Given the description of an element on the screen output the (x, y) to click on. 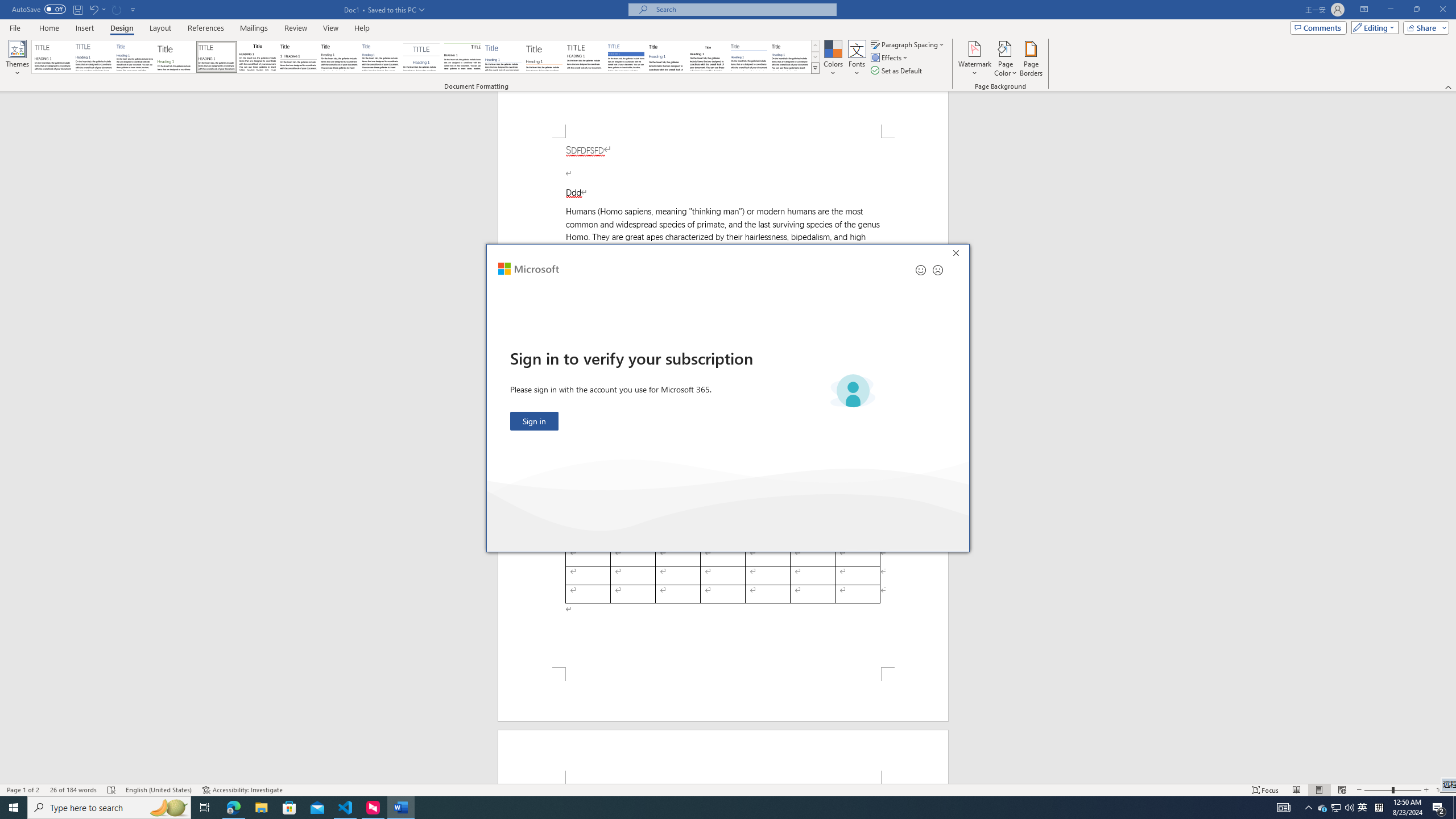
Black & White (Classic) (257, 56)
